Given the description of an element on the screen output the (x, y) to click on. 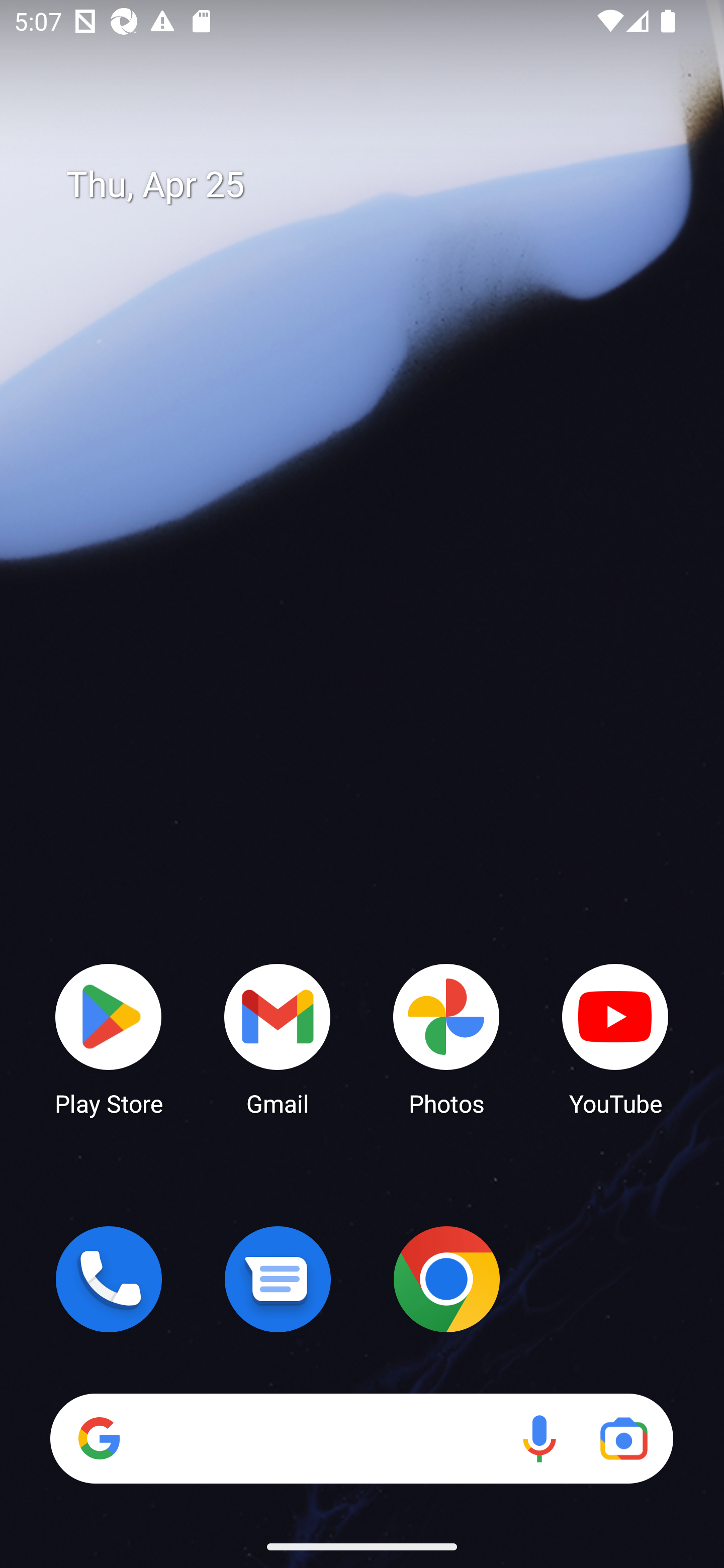
Thu, Apr 25 (375, 184)
Play Store (108, 1038)
Gmail (277, 1038)
Photos (445, 1038)
YouTube (615, 1038)
Phone (108, 1279)
Messages (277, 1279)
Chrome (446, 1279)
Search Voice search Google Lens (361, 1438)
Voice search (539, 1438)
Google Lens (623, 1438)
